Given the description of an element on the screen output the (x, y) to click on. 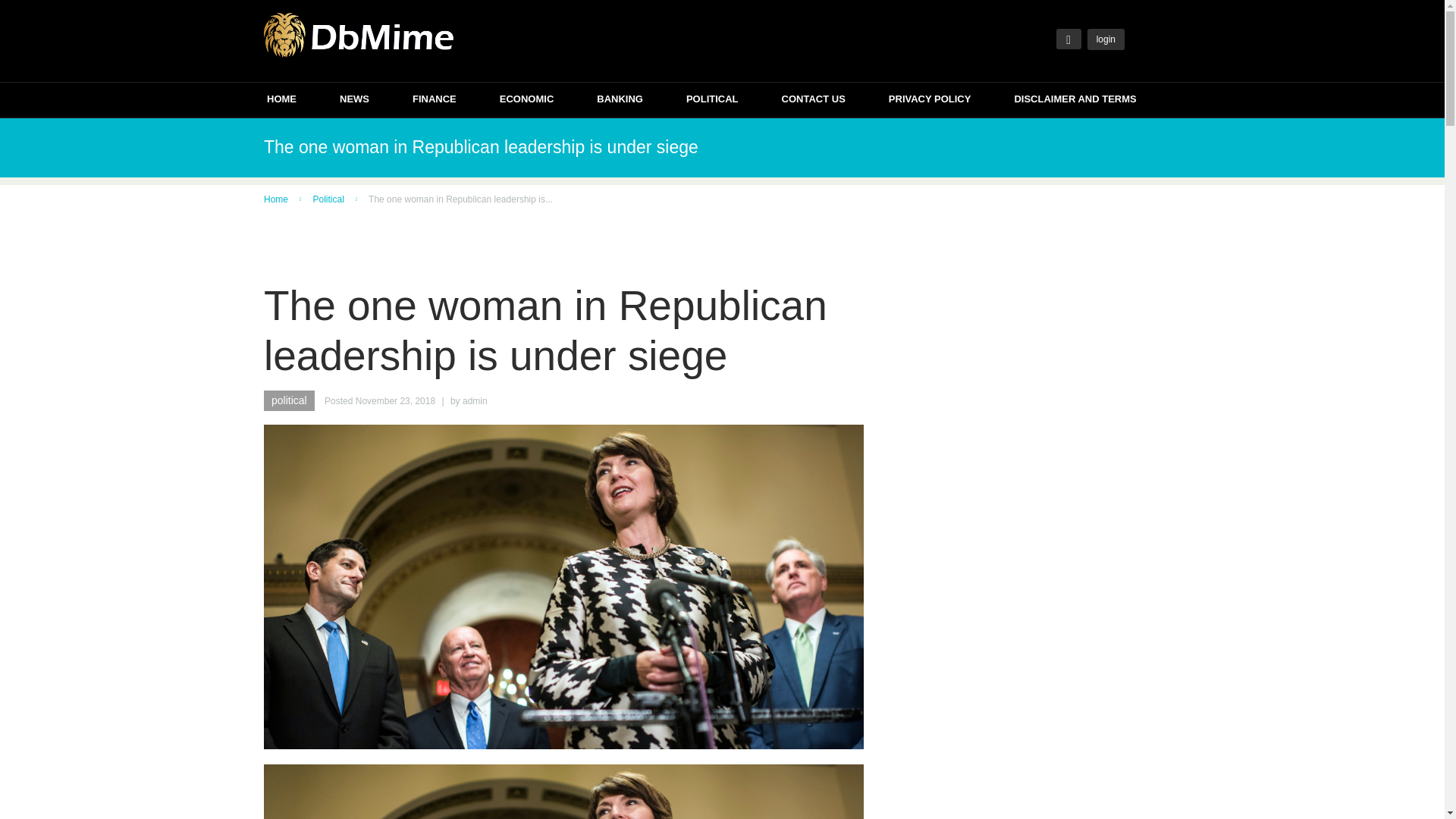
FINANCE (434, 100)
DISCLAIMER AND TERMS (1074, 100)
PRIVACY POLICY (929, 100)
POLITICAL (711, 100)
NEWS (354, 100)
HOME (281, 100)
ECONOMIC (526, 100)
November 23, 2018 (395, 400)
political (288, 400)
Home (275, 199)
CONTACT US (813, 100)
admin (475, 400)
login (1105, 38)
BANKING (620, 100)
Political (328, 199)
